Given the description of an element on the screen output the (x, y) to click on. 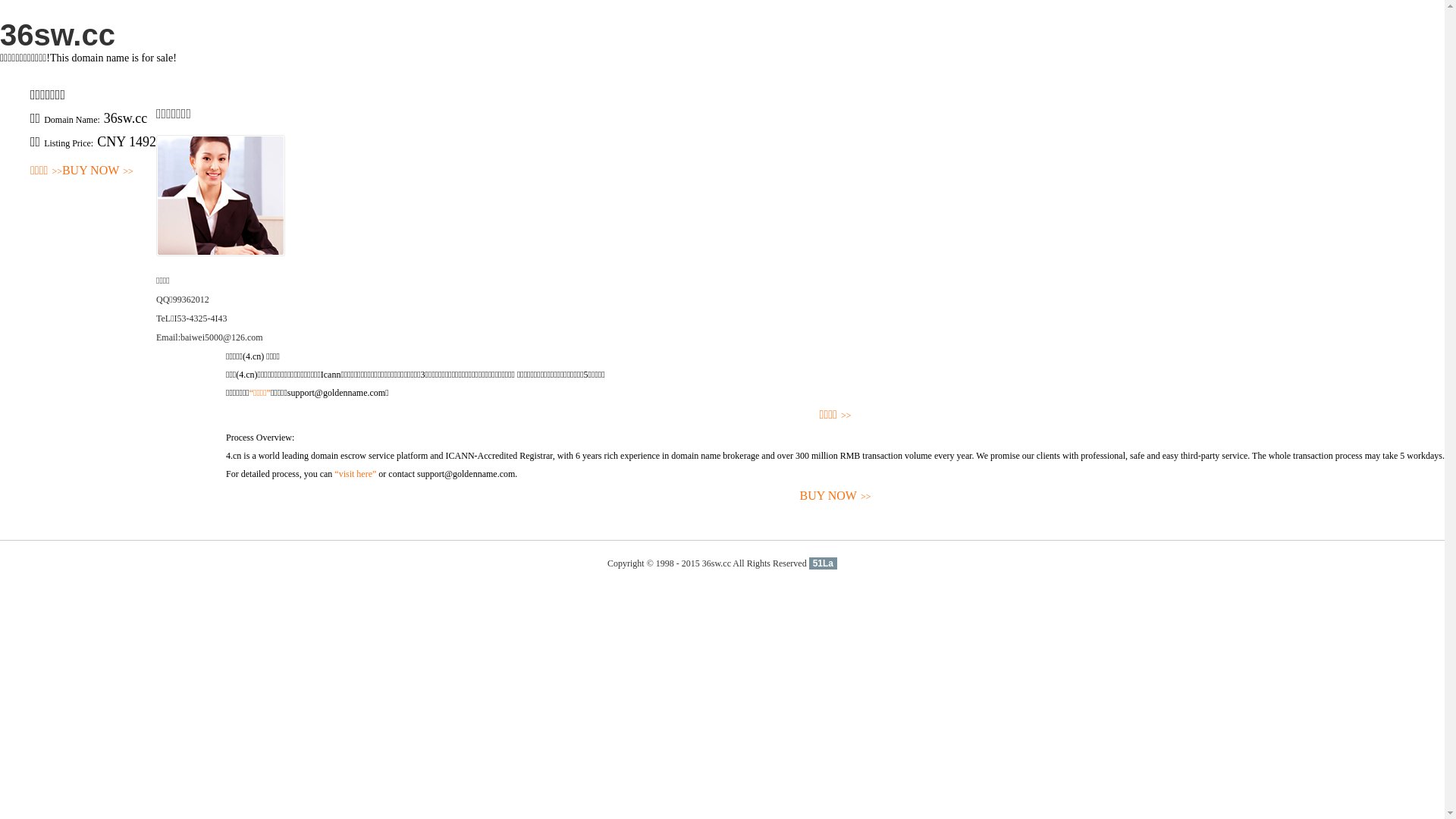
BUY NOW>> Element type: text (834, 496)
51La Element type: text (823, 563)
BUY NOW>> Element type: text (97, 170)
